Given the description of an element on the screen output the (x, y) to click on. 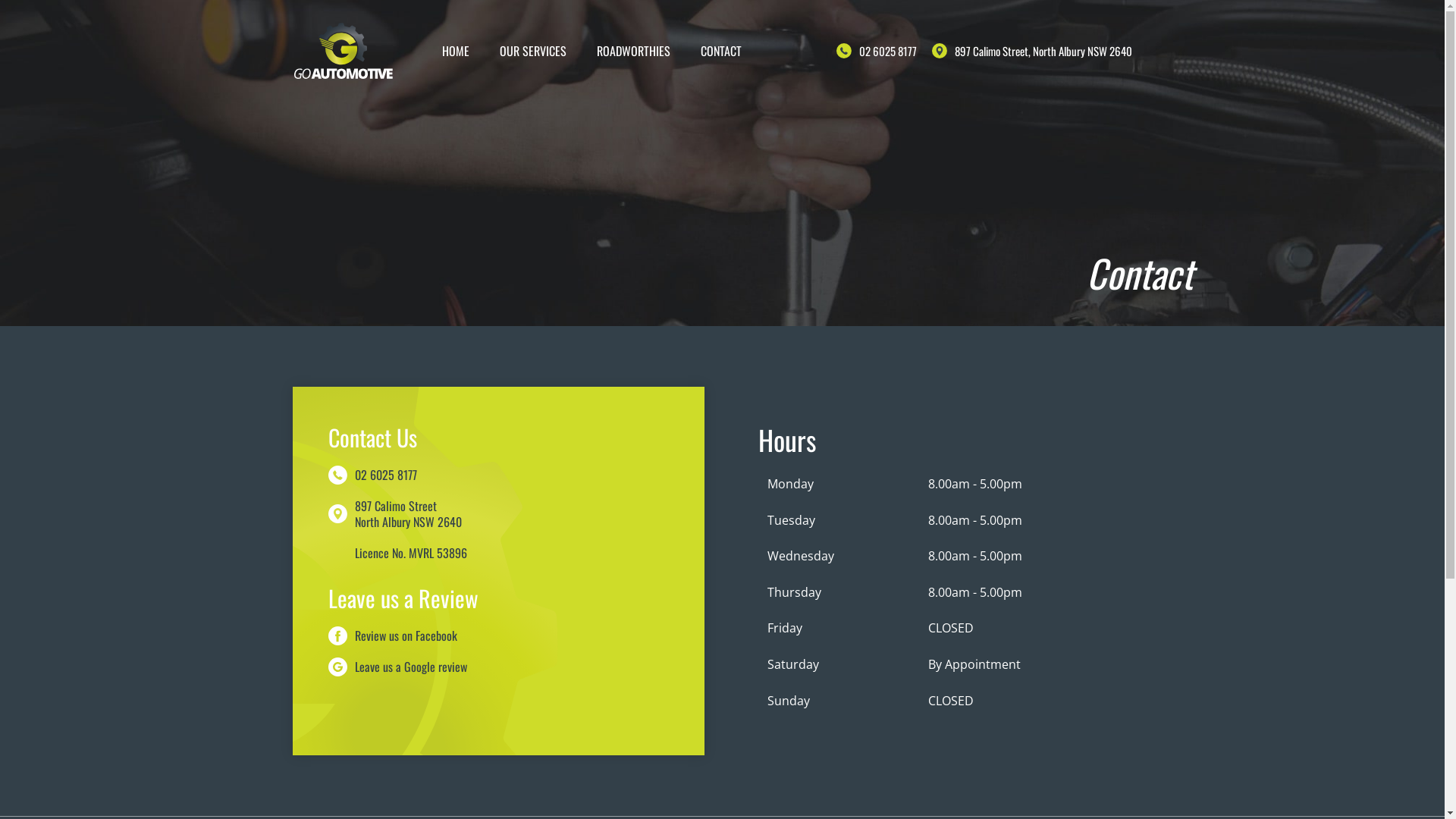
CONTACT Element type: text (720, 51)
897 Calimo Street
North Albury NSW 2640 Element type: text (407, 513)
Leave us a Google review Element type: text (410, 666)
897 Calimo Street, North Albury NSW 2640 Element type: text (1038, 50)
HOME Element type: text (454, 51)
02 6025 8177 Element type: text (385, 474)
02 6025 8177 Element type: text (883, 50)
OUR SERVICES Element type: text (531, 51)
Review us on Facebook Element type: text (405, 635)
ROADWORTHIES Element type: text (632, 51)
